Given the description of an element on the screen output the (x, y) to click on. 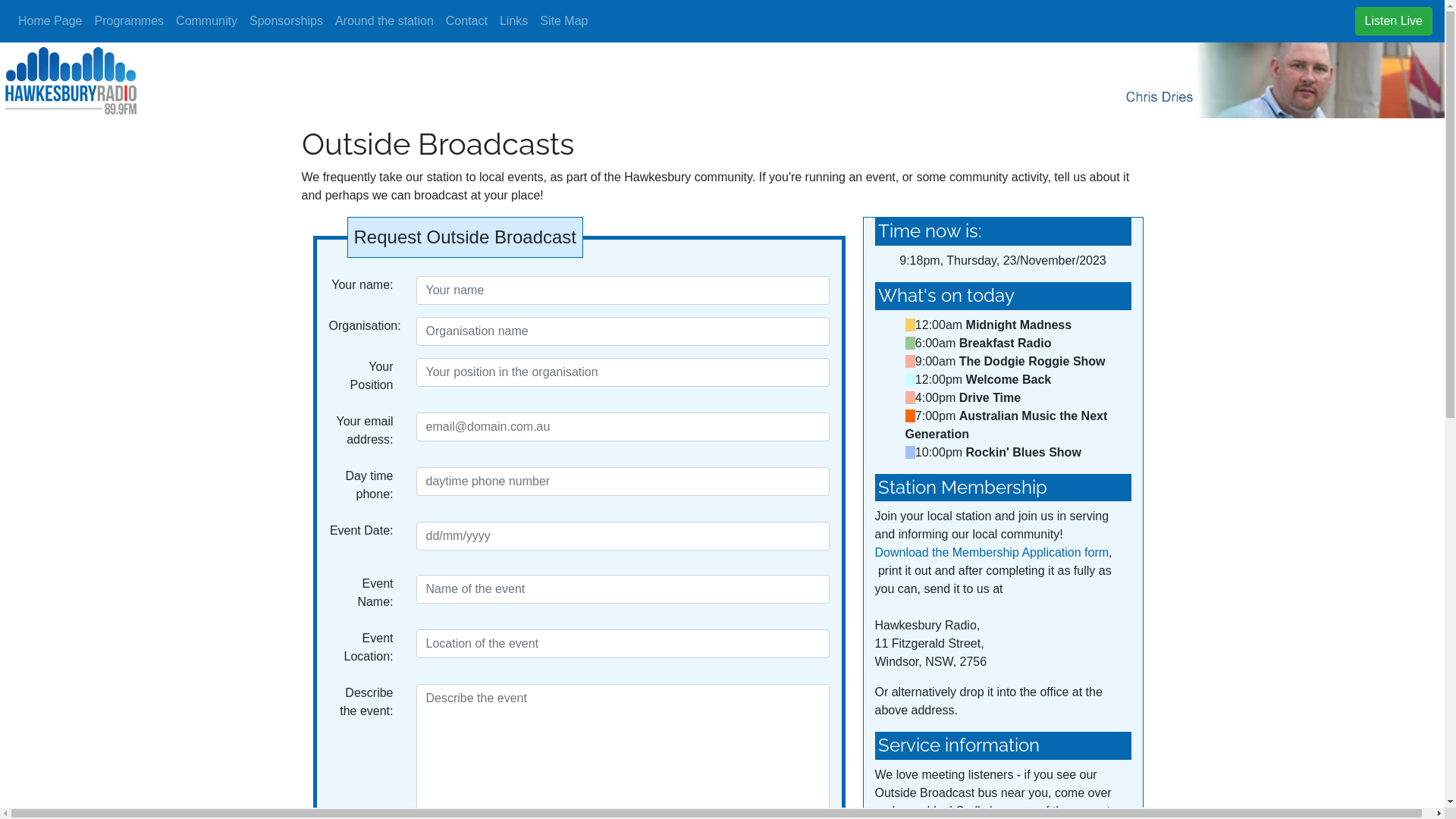
Community Element type: text (206, 21)
Links Element type: text (513, 21)
Download the Membership Application form Element type: text (992, 552)
Contact Element type: text (466, 21)
Site Map Element type: text (563, 21)
Home Page Element type: text (50, 21)
Programmes Element type: text (128, 21)
Listen Live Element type: text (1393, 20)
Sponsorships Element type: text (286, 21)
Around the station Element type: text (384, 21)
